Given the description of an element on the screen output the (x, y) to click on. 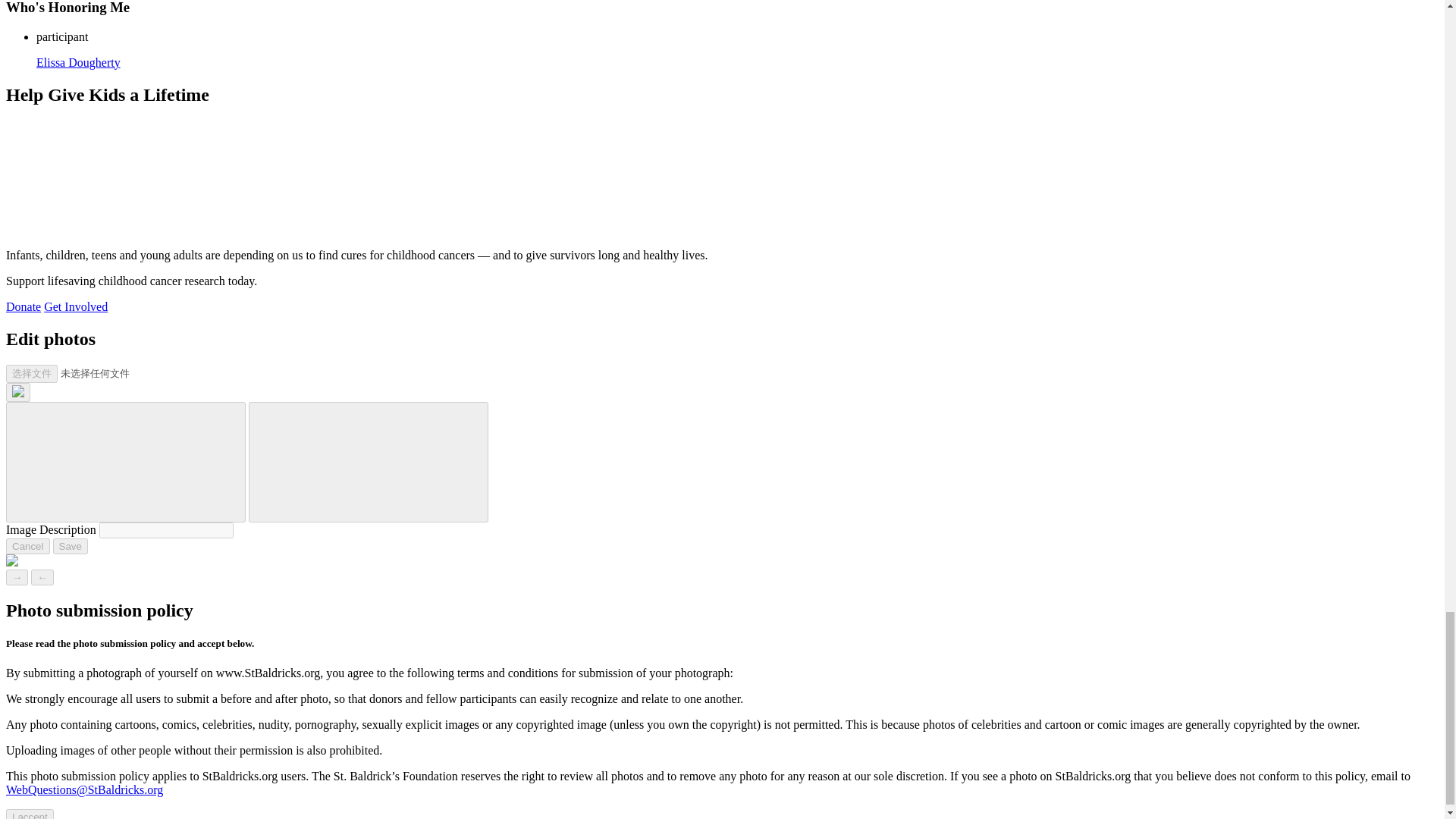
Get Involved (75, 306)
Save (69, 546)
Donate (22, 306)
Cancel (27, 546)
